Given the description of an element on the screen output the (x, y) to click on. 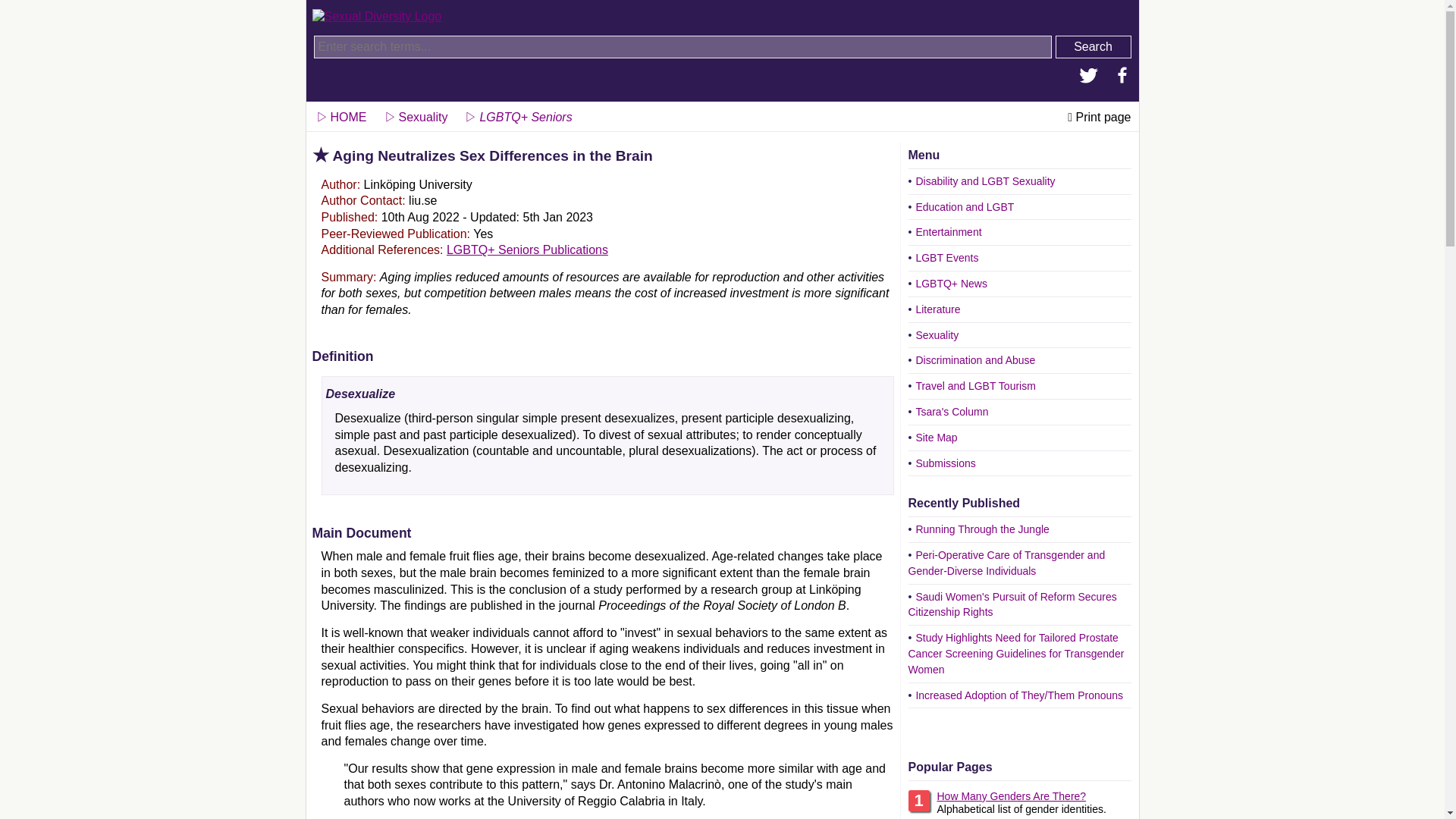
Sexuality (414, 113)
Go to Sexuality (414, 113)
HOME (339, 113)
